Given the description of an element on the screen output the (x, y) to click on. 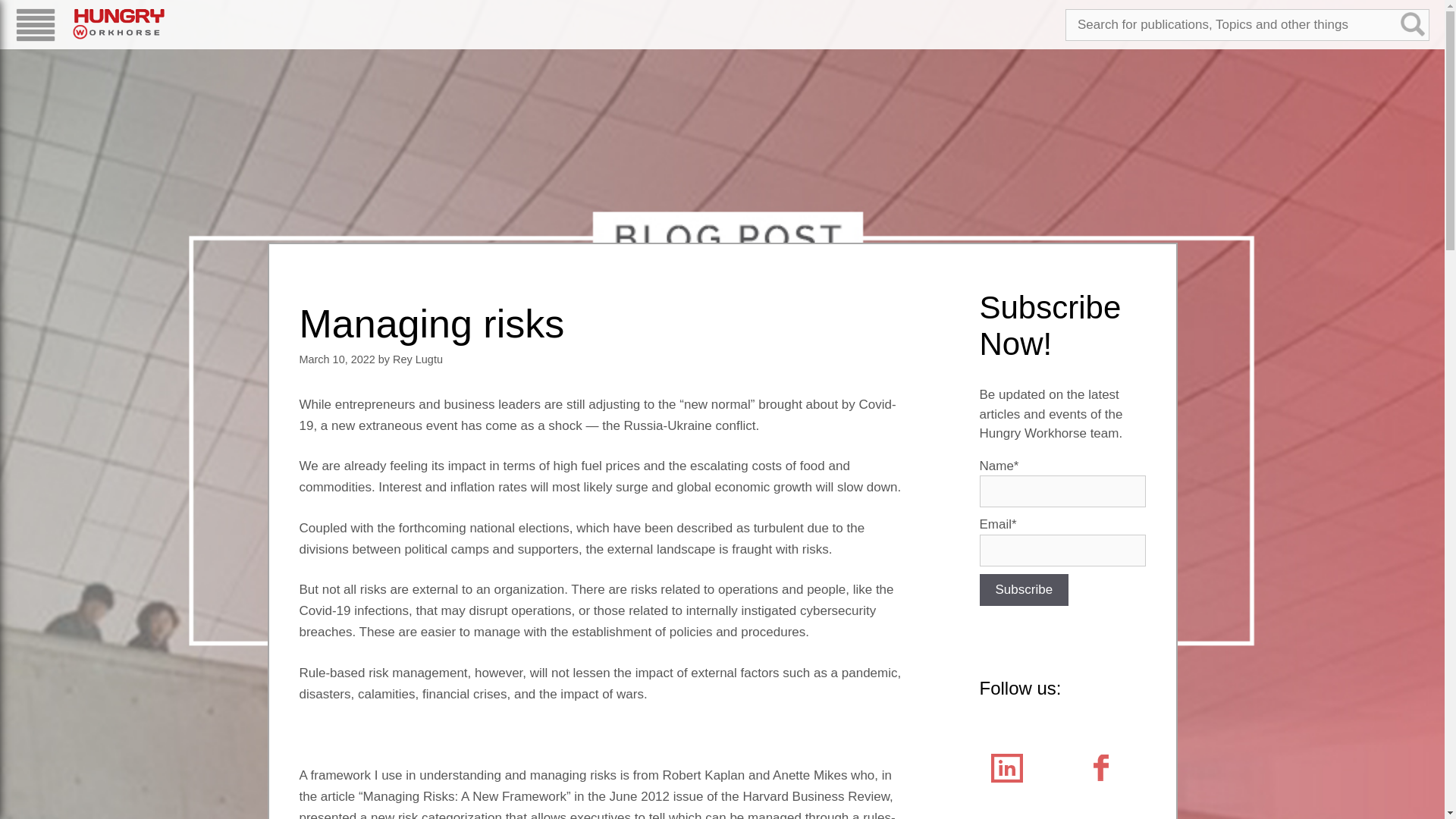
View all posts by Rey Lugtu (417, 358)
Subscribe (1023, 590)
Rey Lugtu (417, 358)
Subscribe (1023, 590)
